Given the description of an element on the screen output the (x, y) to click on. 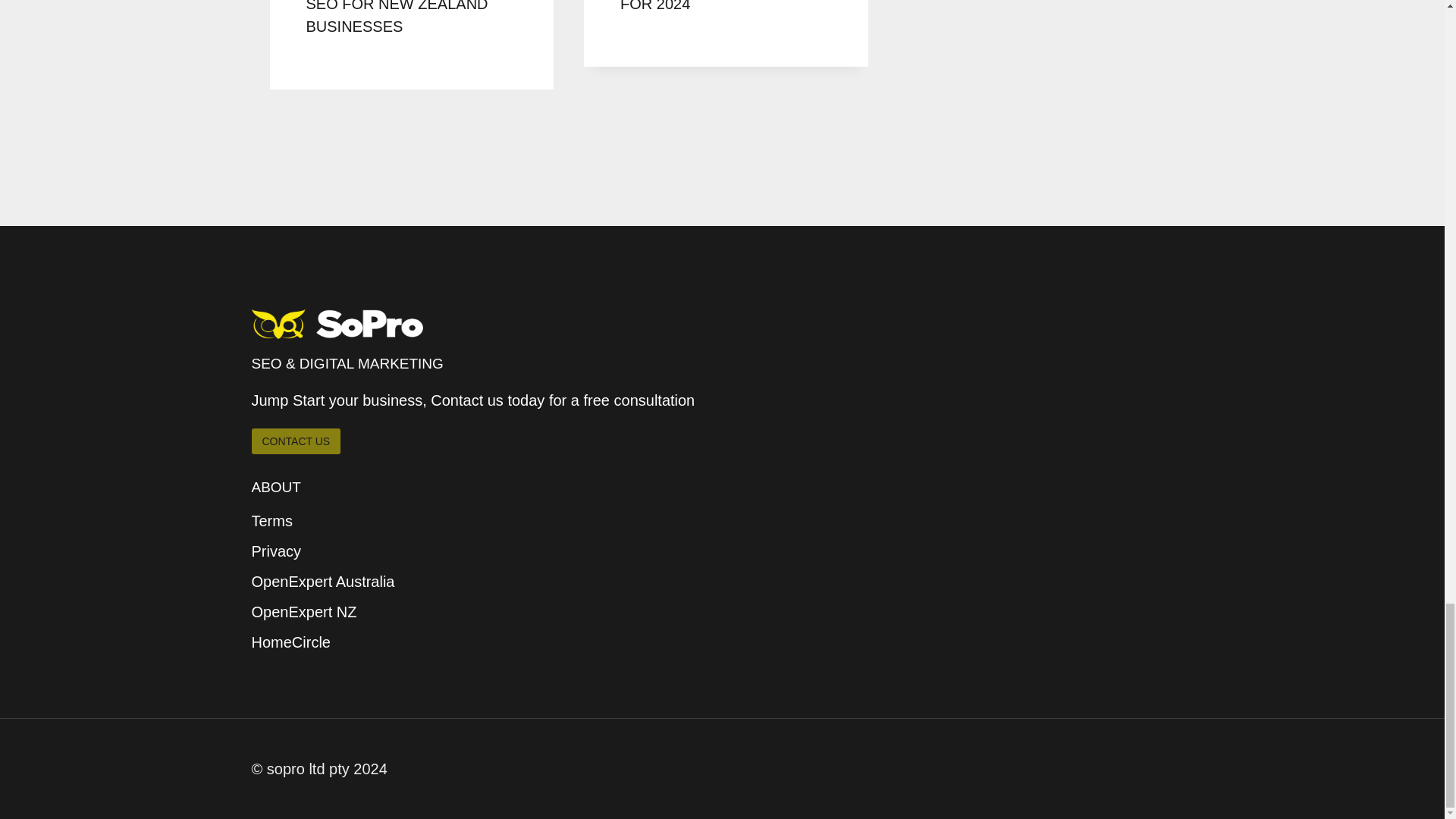
Terms (722, 521)
Contact Us (295, 441)
Privacy (722, 551)
TOP 10 EMERGING TRENDS IN EXPERT CONSULTING FOR 2024 (722, 6)
Contact Us (295, 441)
